Given the description of an element on the screen output the (x, y) to click on. 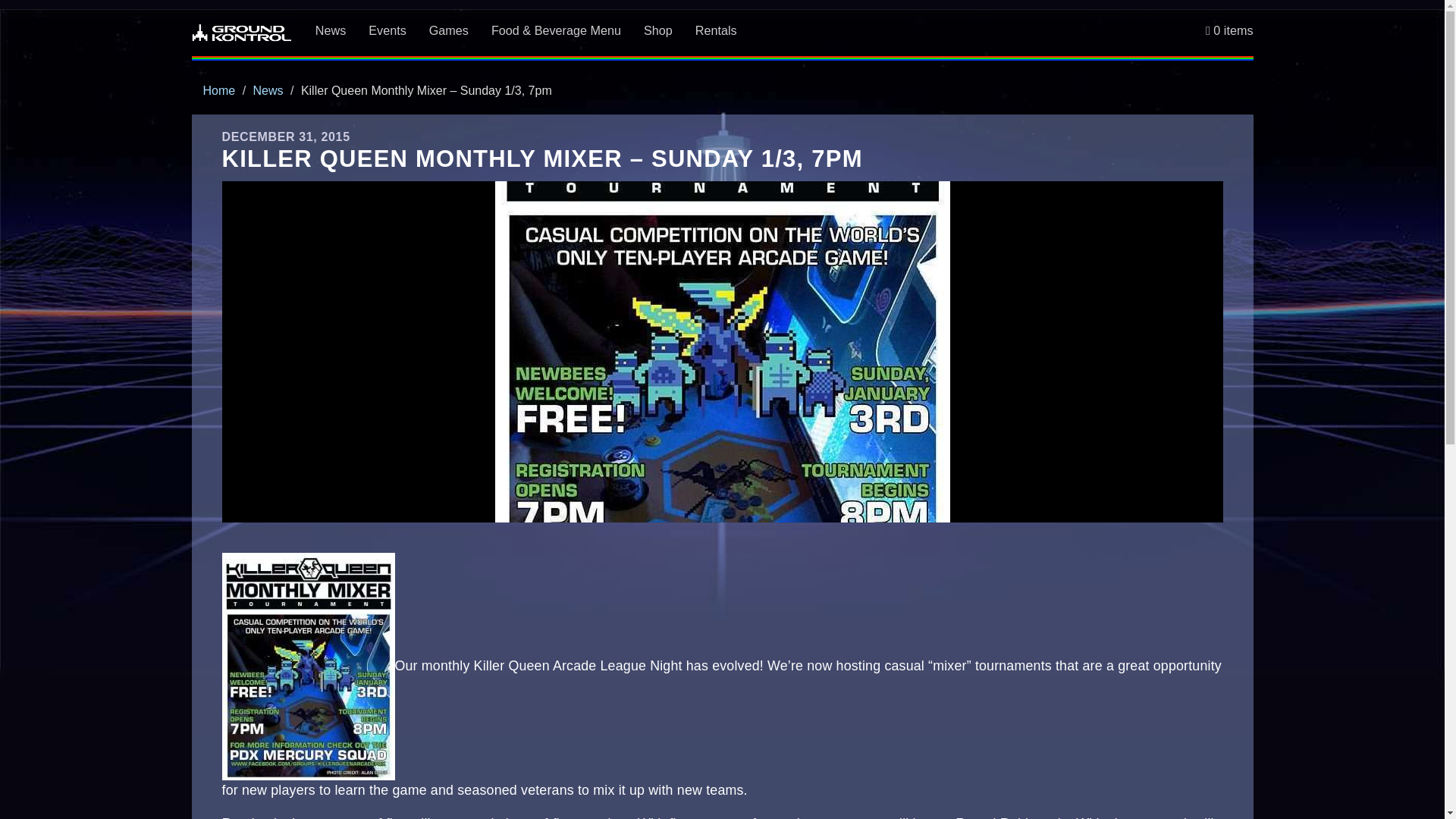
2015-12-31 14:28:03 (285, 136)
View your shopping cart (1229, 30)
News (268, 90)
Rentals (716, 30)
Home (219, 90)
Events (386, 30)
0 items (1229, 30)
Games (448, 30)
